Given the description of an element on the screen output the (x, y) to click on. 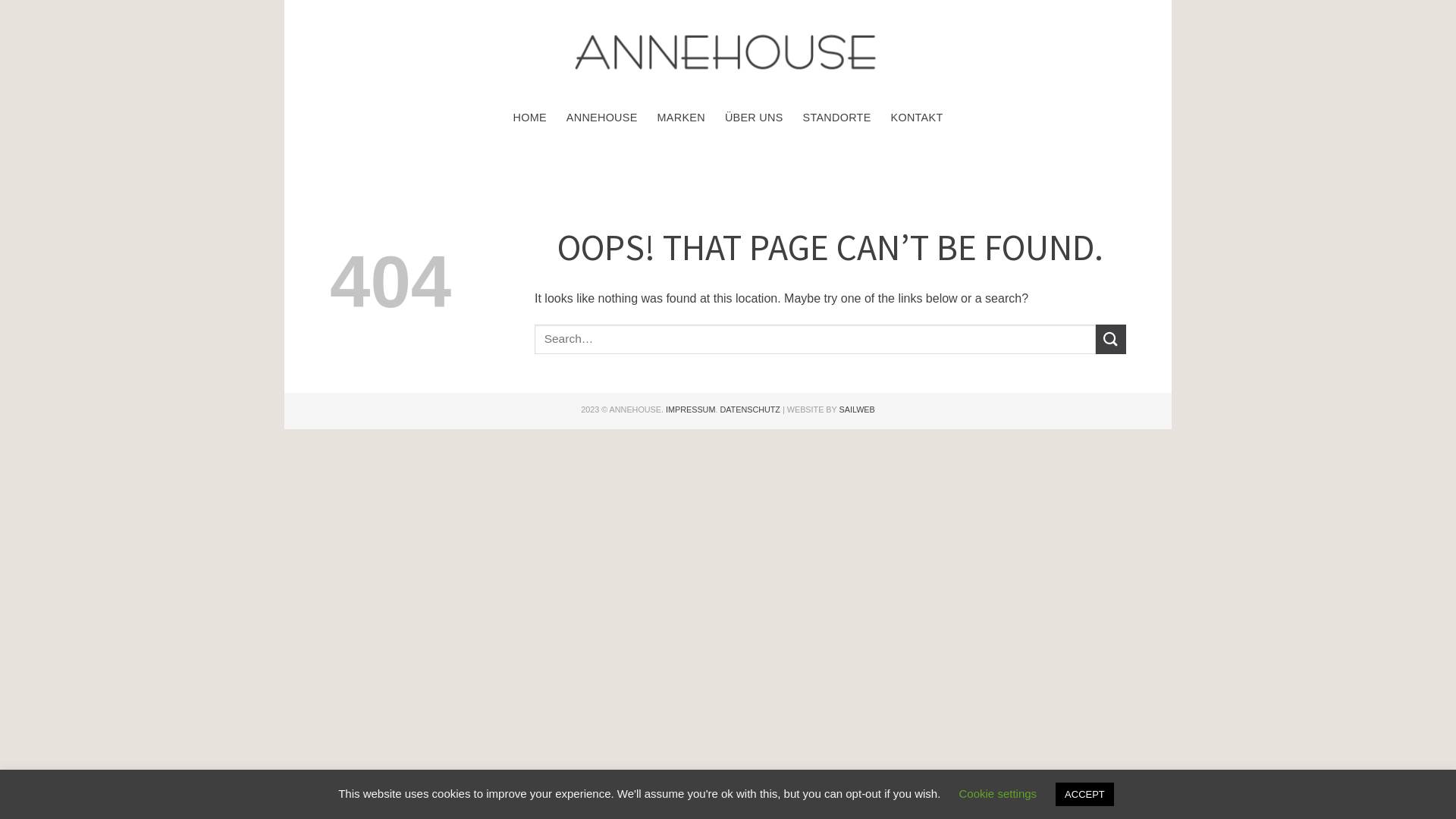
Annehouse - Annehouse Element type: hover (727, 51)
STANDORTE Element type: text (837, 117)
KONTAKT Element type: text (917, 117)
ANNEHOUSE Element type: text (601, 117)
MARKEN Element type: text (681, 117)
Cookie settings Element type: text (998, 793)
SAILWEB Element type: text (857, 409)
DATENSCHUTZ Element type: text (749, 409)
HOME Element type: text (529, 117)
IMPRESSUM Element type: text (690, 409)
ACCEPT Element type: text (1084, 794)
